Given the description of an element on the screen output the (x, y) to click on. 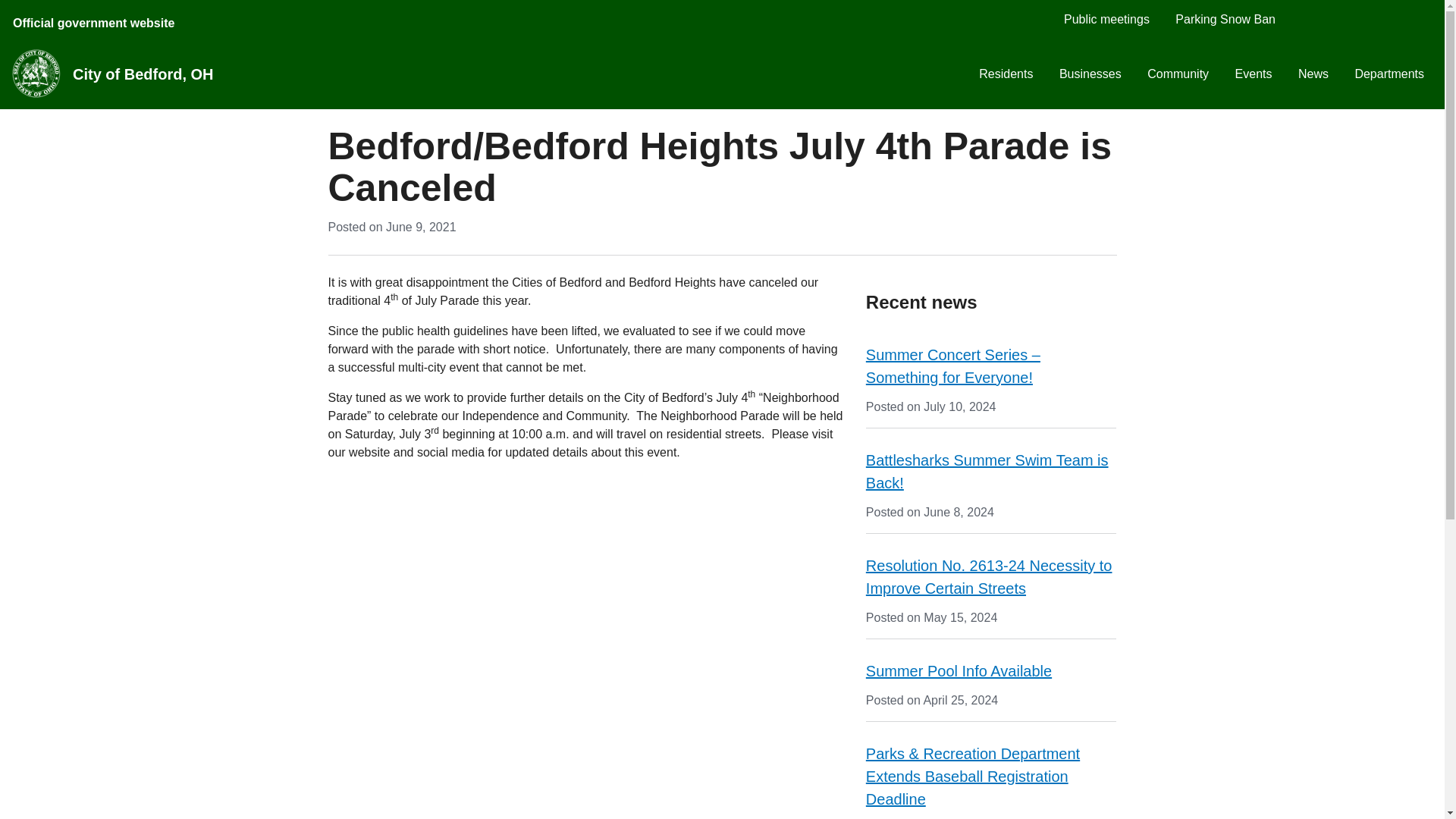
Report Issue (1380, 18)
Payments (1344, 18)
Payments (1344, 18)
Report Issue (1380, 18)
Resolution No. 2613-24 Necessity to Improve Certain Streets (989, 577)
Departments (1388, 74)
Answers (1309, 18)
Public meetings (1106, 18)
Residents (1005, 74)
Summer Pool Info Available (958, 670)
Businesses (1090, 74)
Community (1177, 74)
Battlesharks Summer Swim Team is Back! (987, 471)
News (1313, 74)
Search (1416, 18)
